Given the description of an element on the screen output the (x, y) to click on. 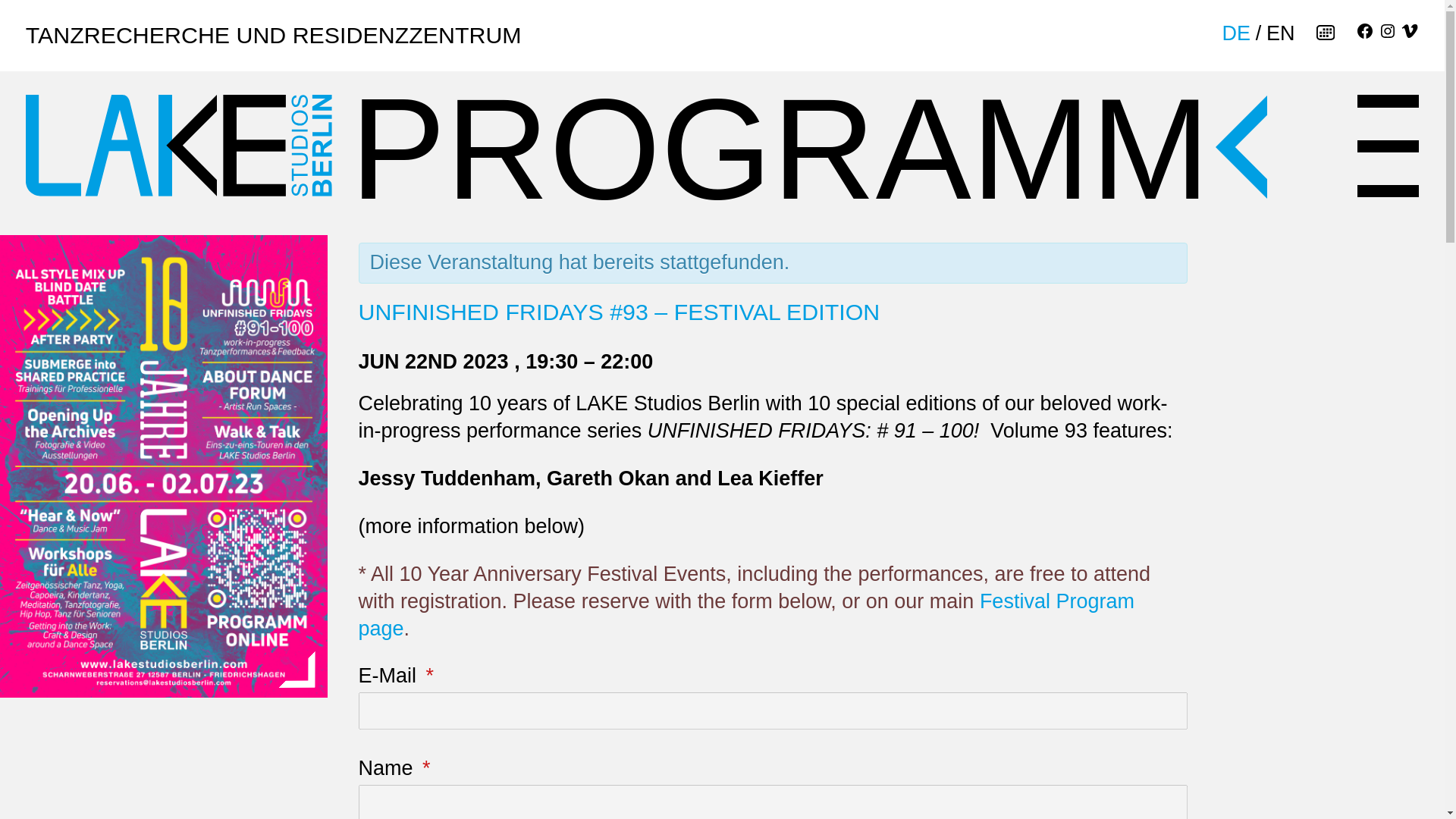
FACEBOOK (1364, 33)
VIMEO (1409, 33)
DE (1235, 33)
INSTAGRAM (1387, 33)
EN (1280, 33)
PROGRAMM (809, 133)
EN (1280, 33)
KALENDER (1324, 33)
LAKE STUDIOS BERLIN (179, 146)
DE (1235, 33)
